Given the description of an element on the screen output the (x, y) to click on. 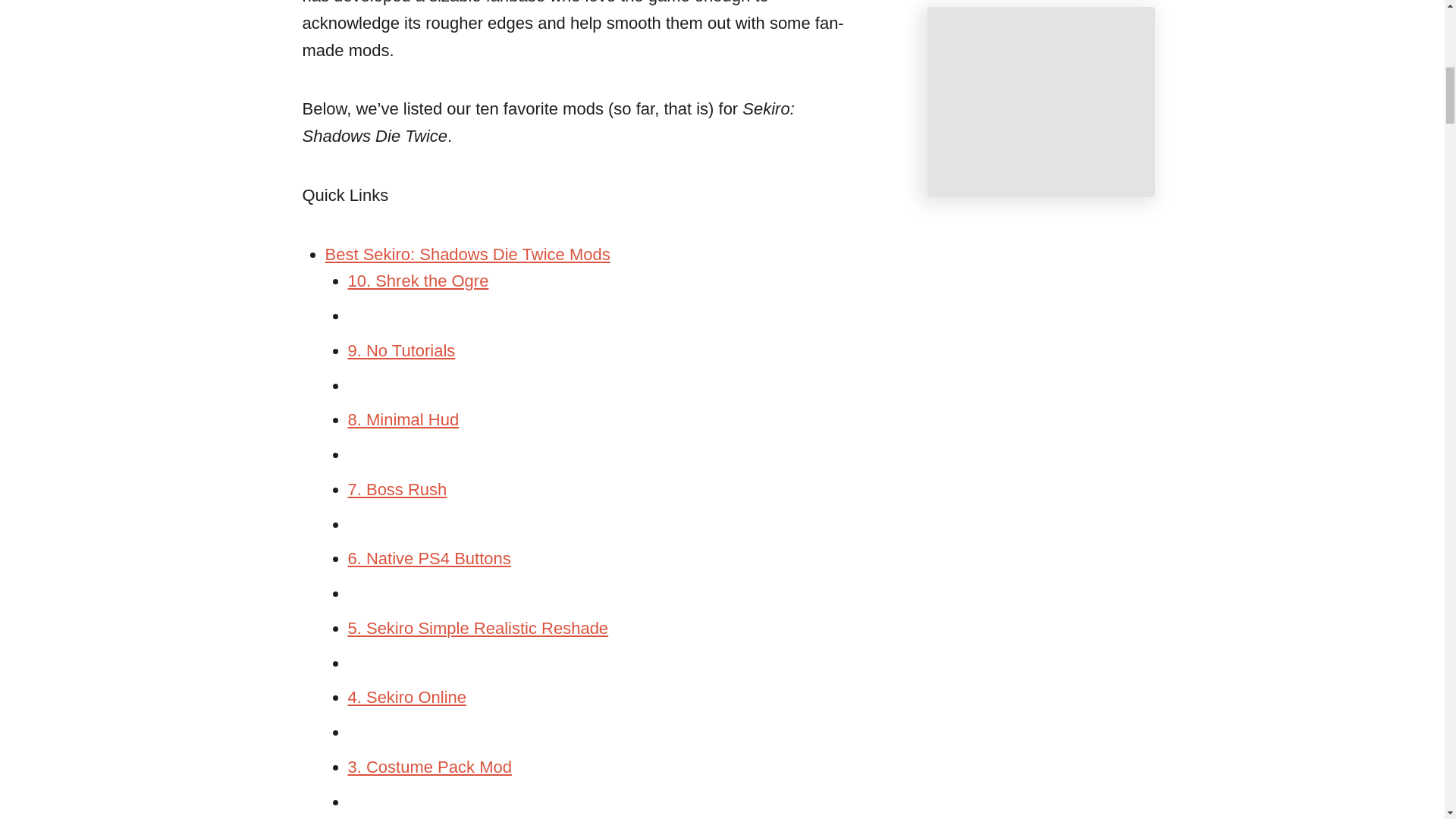
4. Sekiro Online (406, 696)
8. Minimal Hud (402, 419)
7. Boss Rush (396, 488)
Best Sekiro: Shadows Die Twice Mods (467, 253)
5. Sekiro Simple Realistic Reshade (477, 628)
10. Shrek the Ogre (417, 280)
6. Native PS4 Buttons (429, 558)
3. Costume Pack Mod (429, 766)
9. No Tutorials (400, 350)
